Given the description of an element on the screen output the (x, y) to click on. 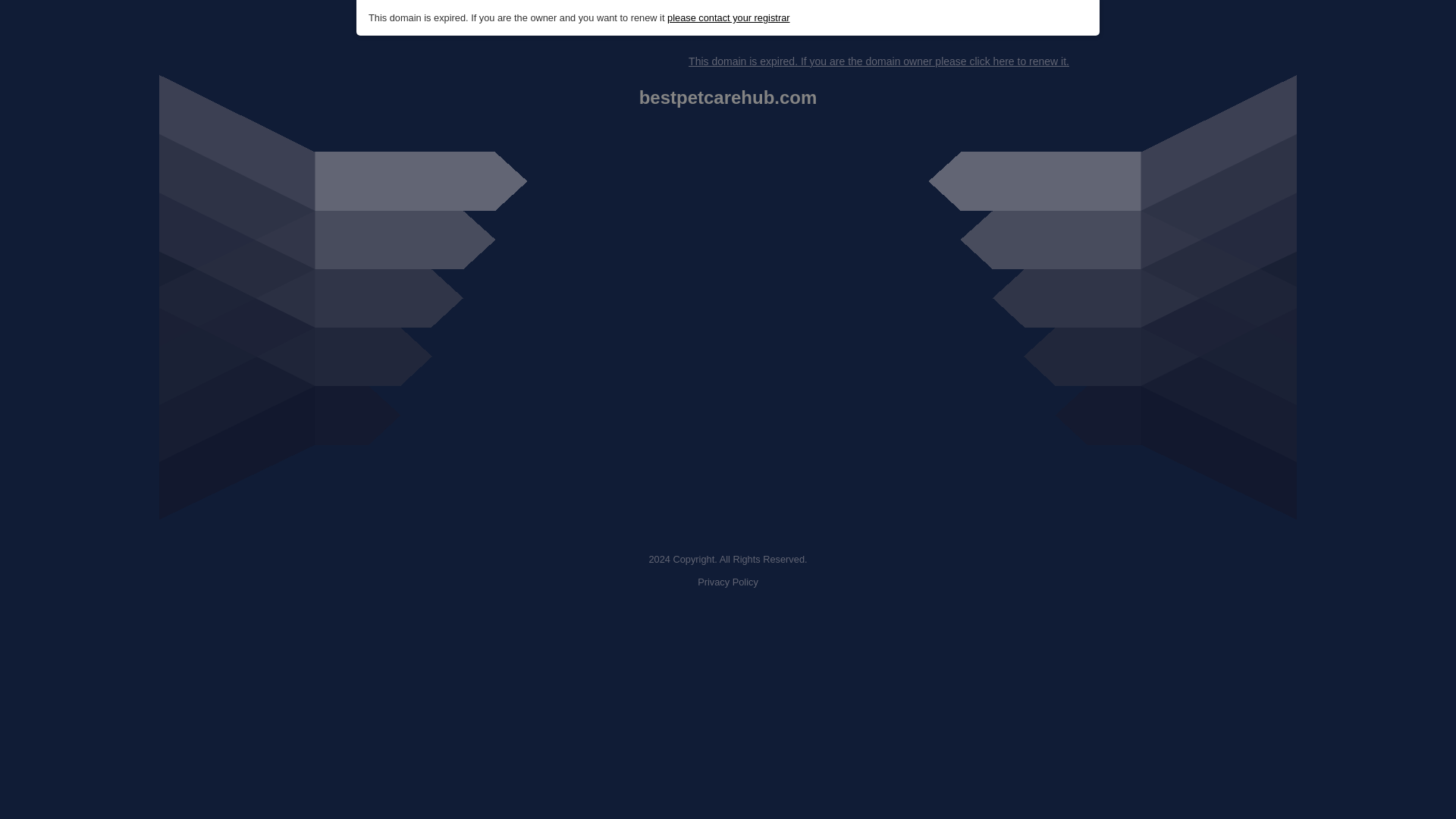
Privacy Policy (727, 582)
please contact your registrar (727, 17)
